Given the description of an element on the screen output the (x, y) to click on. 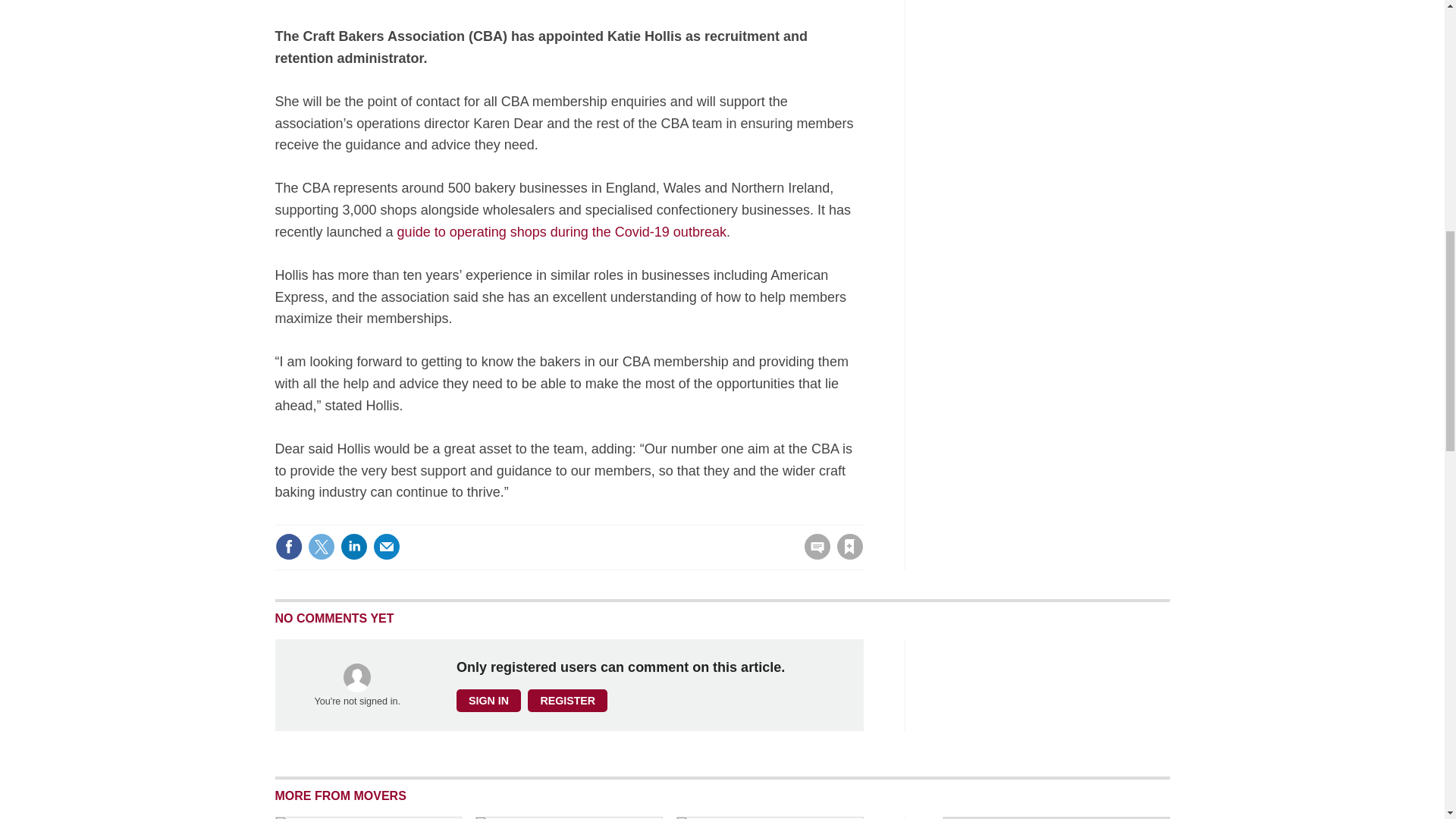
Share this on Twitter (320, 546)
Share this on Linked in (352, 546)
No comments (812, 555)
Email this article (386, 546)
Share this on Facebook (288, 546)
